Given the description of an element on the screen output the (x, y) to click on. 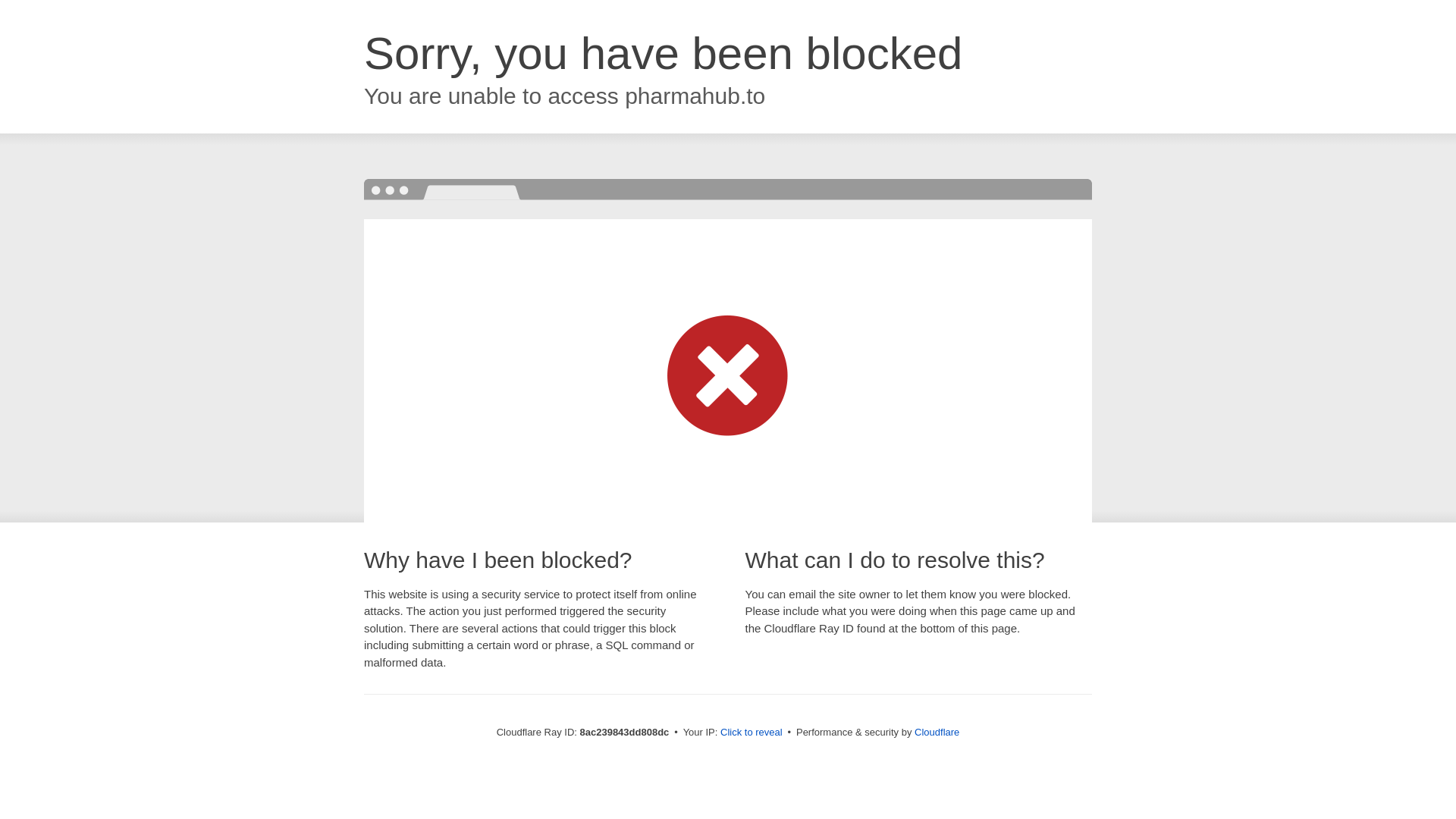
Click to reveal (751, 732)
Cloudflare (936, 731)
